Given the description of an element on the screen output the (x, y) to click on. 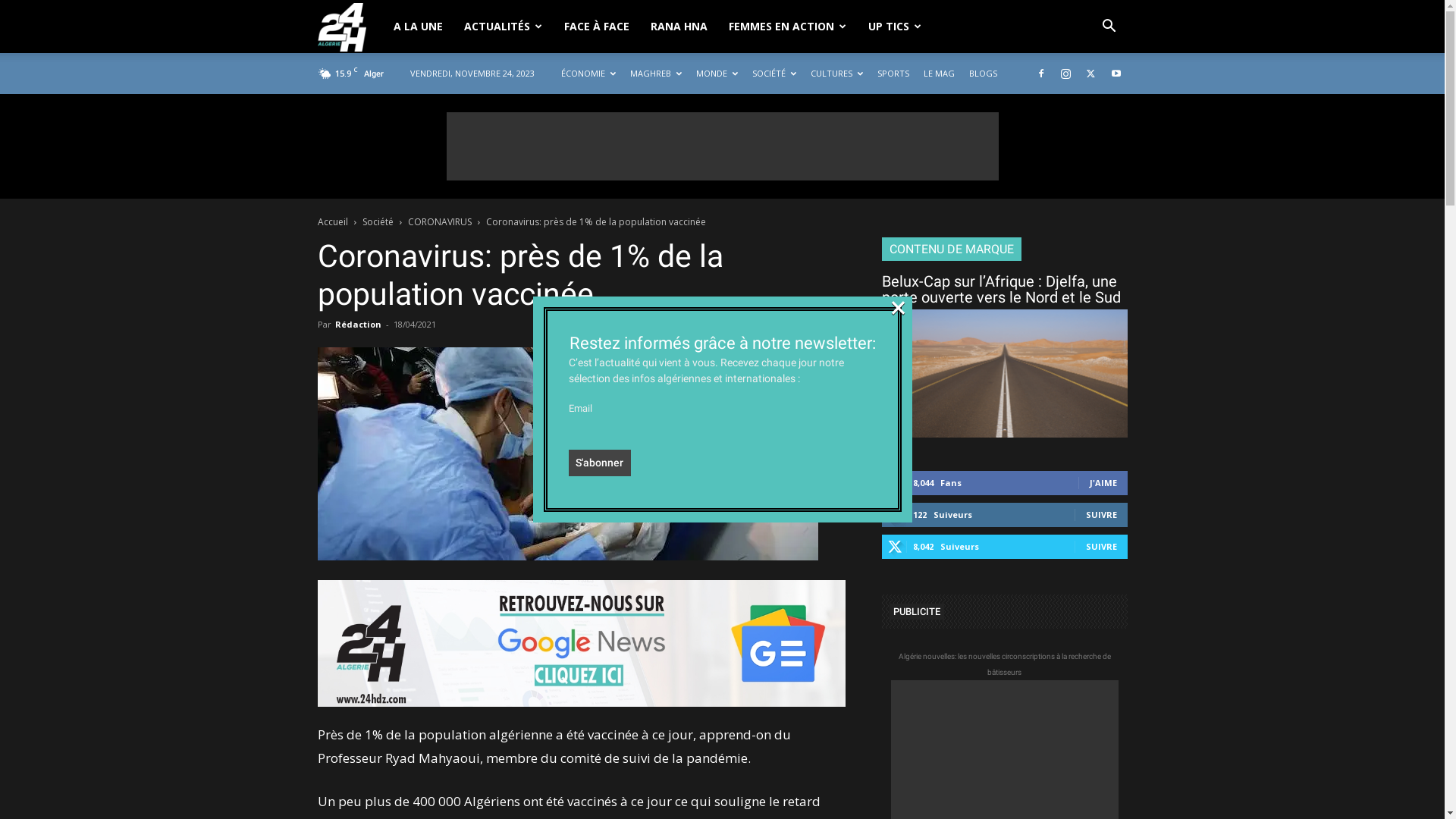
FEMMES EN ACTION Element type: text (786, 26)
S'abonner Element type: text (599, 462)
CORONAVIRUS Element type: text (439, 221)
SUIVRE Element type: text (1101, 514)
1 Element type: text (836, 323)
SPORTS Element type: text (892, 72)
RANA HNA Element type: text (679, 26)
MONDE Element type: text (716, 72)
CULTURES Element type: text (835, 72)
Rechercher Element type: text (1073, 96)
BLOGS Element type: text (983, 72)
LE MAG Element type: text (938, 72)
Instagram Element type: hover (1065, 73)
J'AIME Element type: text (1102, 482)
A LA UNE Element type: text (417, 26)
Twitter Element type: hover (1090, 73)
Youtube Element type: hover (1115, 73)
MAGHREB Element type: text (654, 72)
SUIVRE Element type: text (1101, 546)
Facebook Element type: hover (1040, 73)
Accueil Element type: text (331, 221)
UP TICS Element type: text (893, 26)
